Given the description of an element on the screen output the (x, y) to click on. 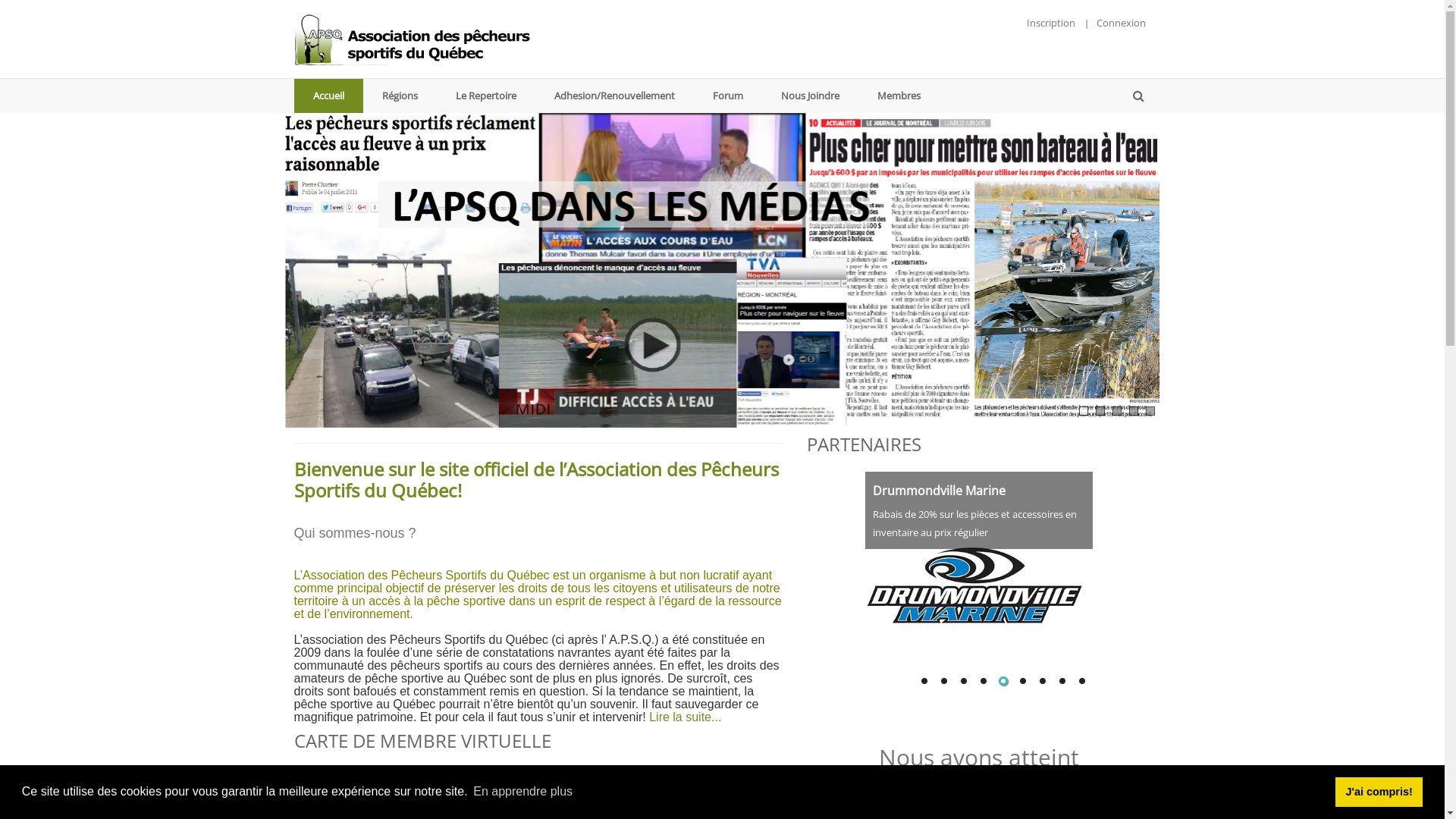
Forum Element type: text (727, 95)
Accueil Element type: text (328, 95)
J'ai compris! Element type: text (1378, 791)
Adhesion/Renouvellement Element type: text (614, 95)
Lire la suite... Element type: text (685, 716)
En apprendre plus Element type: text (522, 791)
Inscription Element type: text (1050, 22)
Membres Element type: text (898, 95)
Connexion Element type: text (1120, 22)
Le Repertoire Element type: text (485, 95)
Nous Joindre Element type: text (809, 95)
